Given the description of an element on the screen output the (x, y) to click on. 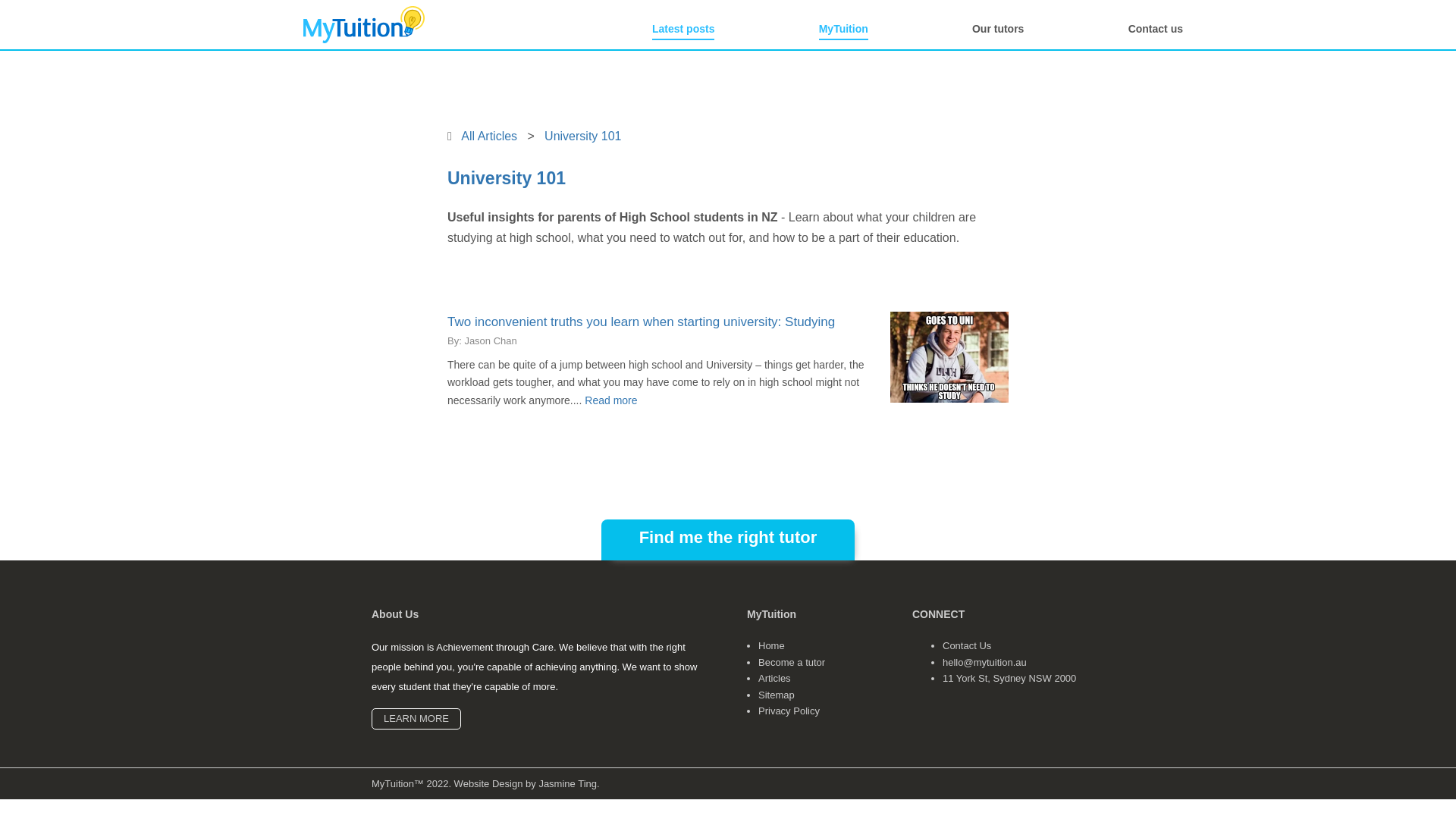
Become a tutor Element type: text (791, 662)
Jasmine Ting Element type: text (567, 783)
University 101 Element type: text (506, 178)
Articles Element type: text (774, 678)
Home Element type: text (771, 645)
Our tutors Element type: text (997, 29)
Privacy Policy Element type: text (788, 710)
All Articles Element type: text (489, 135)
Read more Element type: text (610, 400)
MyTuition Element type: text (843, 29)
University 101 Element type: text (582, 135)
Find me the right tutor Element type: text (728, 539)
Latest posts Element type: text (683, 29)
LEARN MORE Element type: text (416, 718)
hello@mytuition.au Element type: text (984, 662)
Contact us Element type: text (1155, 29)
Sitemap Element type: text (776, 694)
Contact Us Element type: text (966, 645)
